Given the description of an element on the screen output the (x, y) to click on. 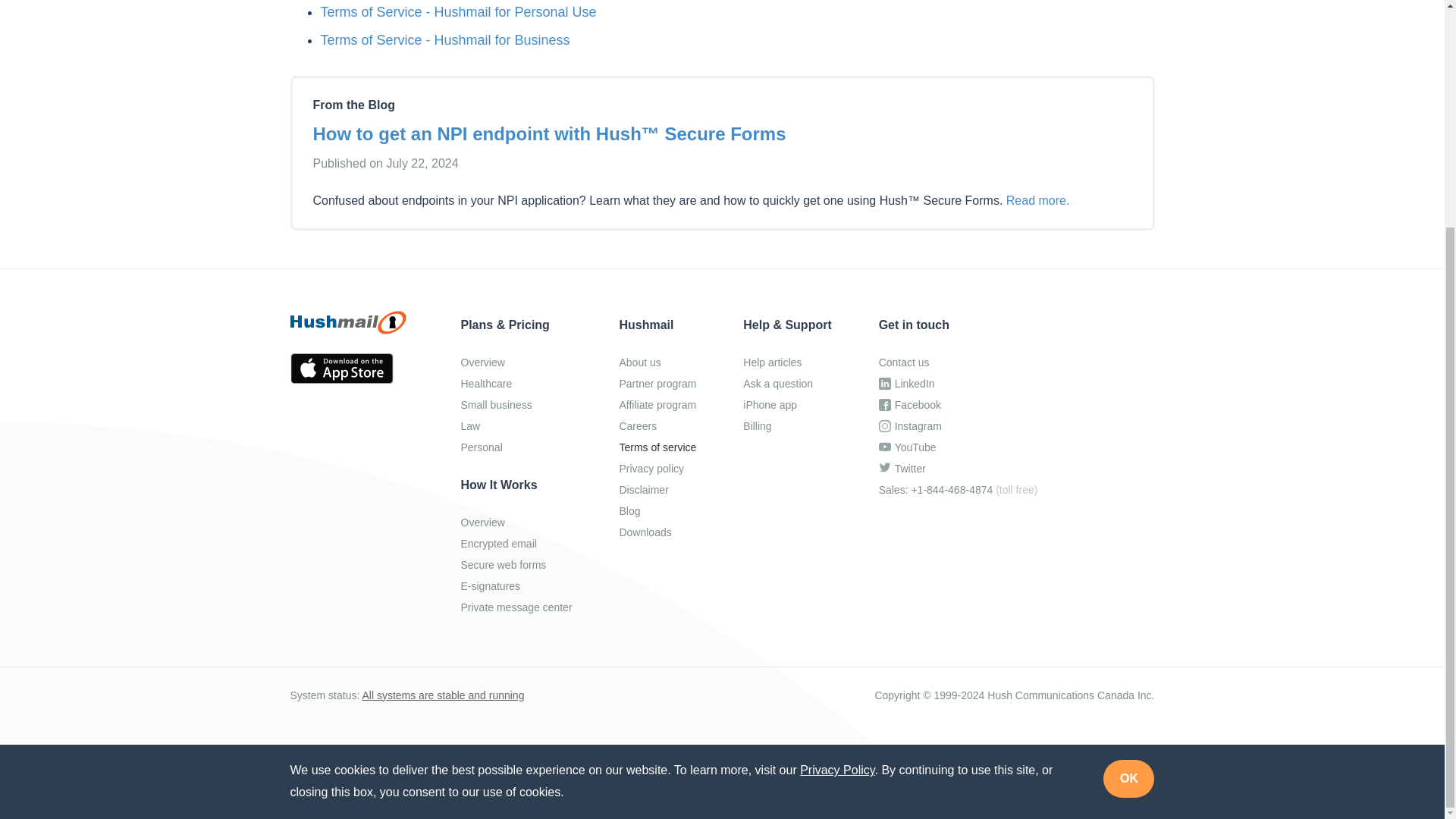
Overview (516, 362)
All systems are stable and running (442, 695)
Law (516, 426)
Careers (656, 426)
Small business (516, 405)
Read more. (1038, 200)
Blog (656, 511)
Ask a question (786, 383)
Terms of Service - Hushmail for Personal Use (457, 11)
Healthcare (516, 383)
